Given the description of an element on the screen output the (x, y) to click on. 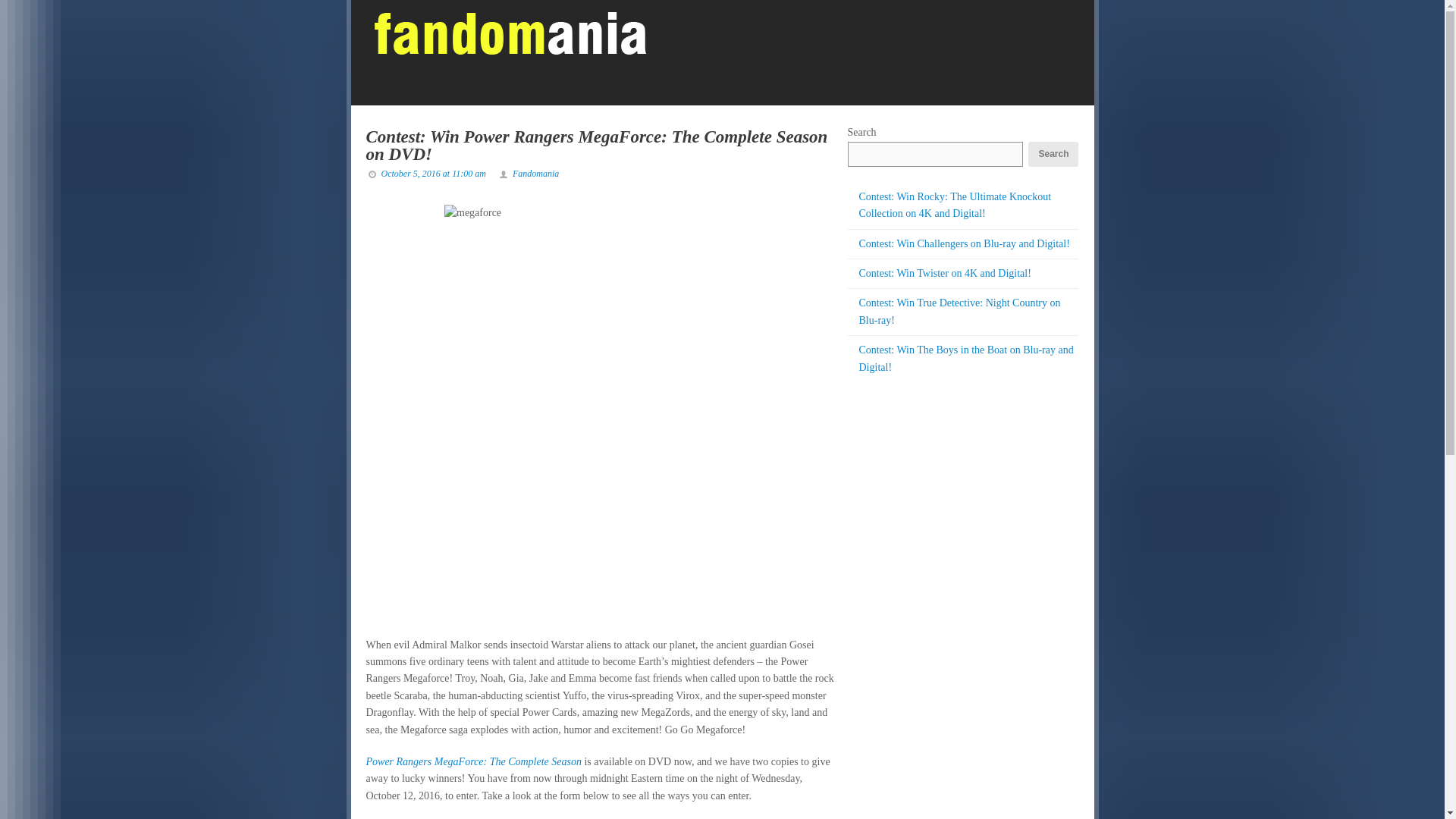
Posts by Fandomania (535, 173)
Power Rangers MegaForce: The Complete Season (472, 761)
October 5, 2016 at 11:00 am (432, 173)
Search (1052, 154)
Contest: Win Challengers on Blu-ray and Digital! (963, 243)
Fandomania (535, 173)
Contest: Win Twister on 4K and Digital! (944, 273)
